Given the description of an element on the screen output the (x, y) to click on. 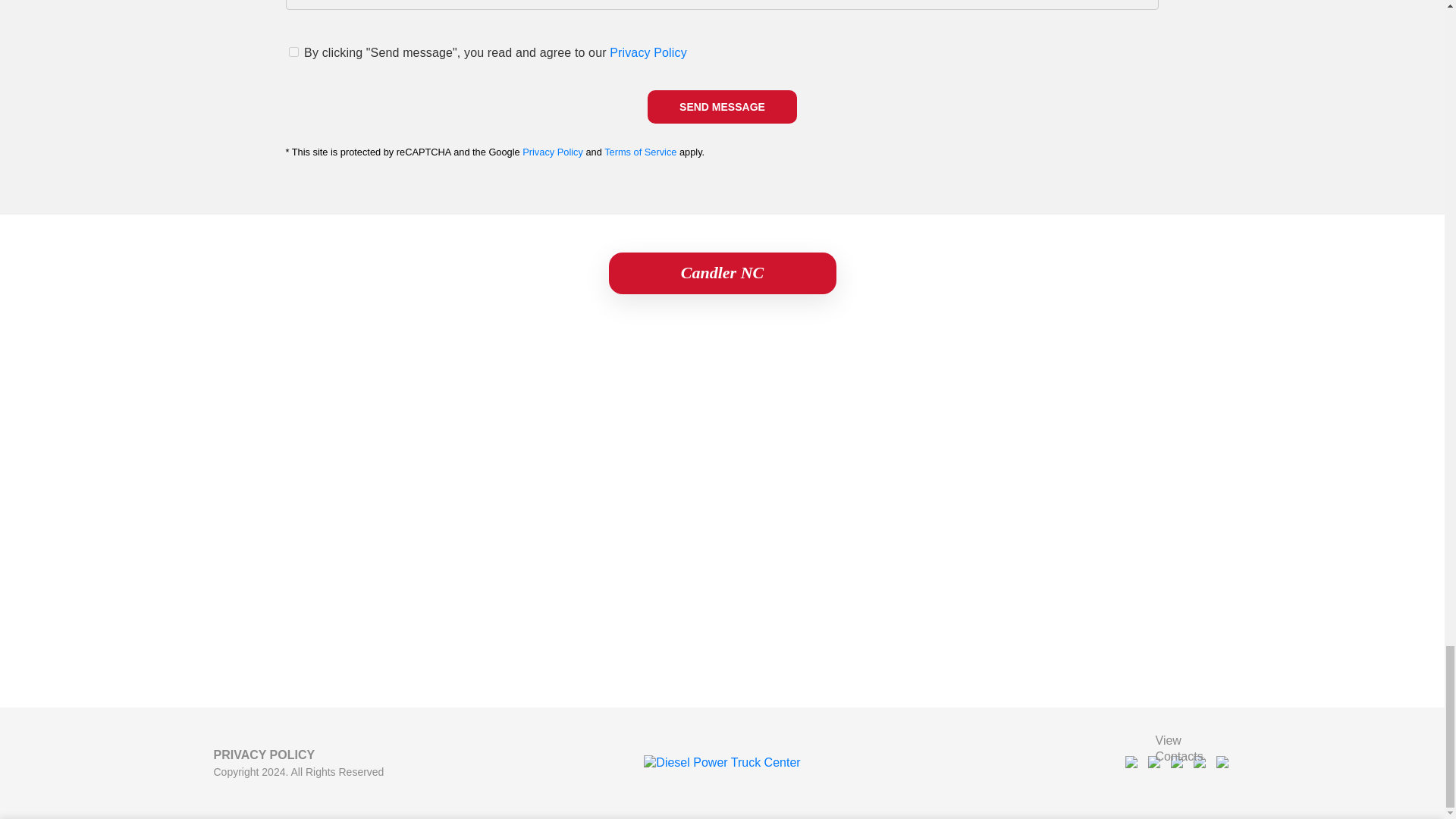
Facebook (1132, 763)
Twitter (1223, 763)
YouTube (1200, 763)
LinkedIn (1178, 763)
1 (293, 51)
Instagram (1155, 763)
